Given the description of an element on the screen output the (x, y) to click on. 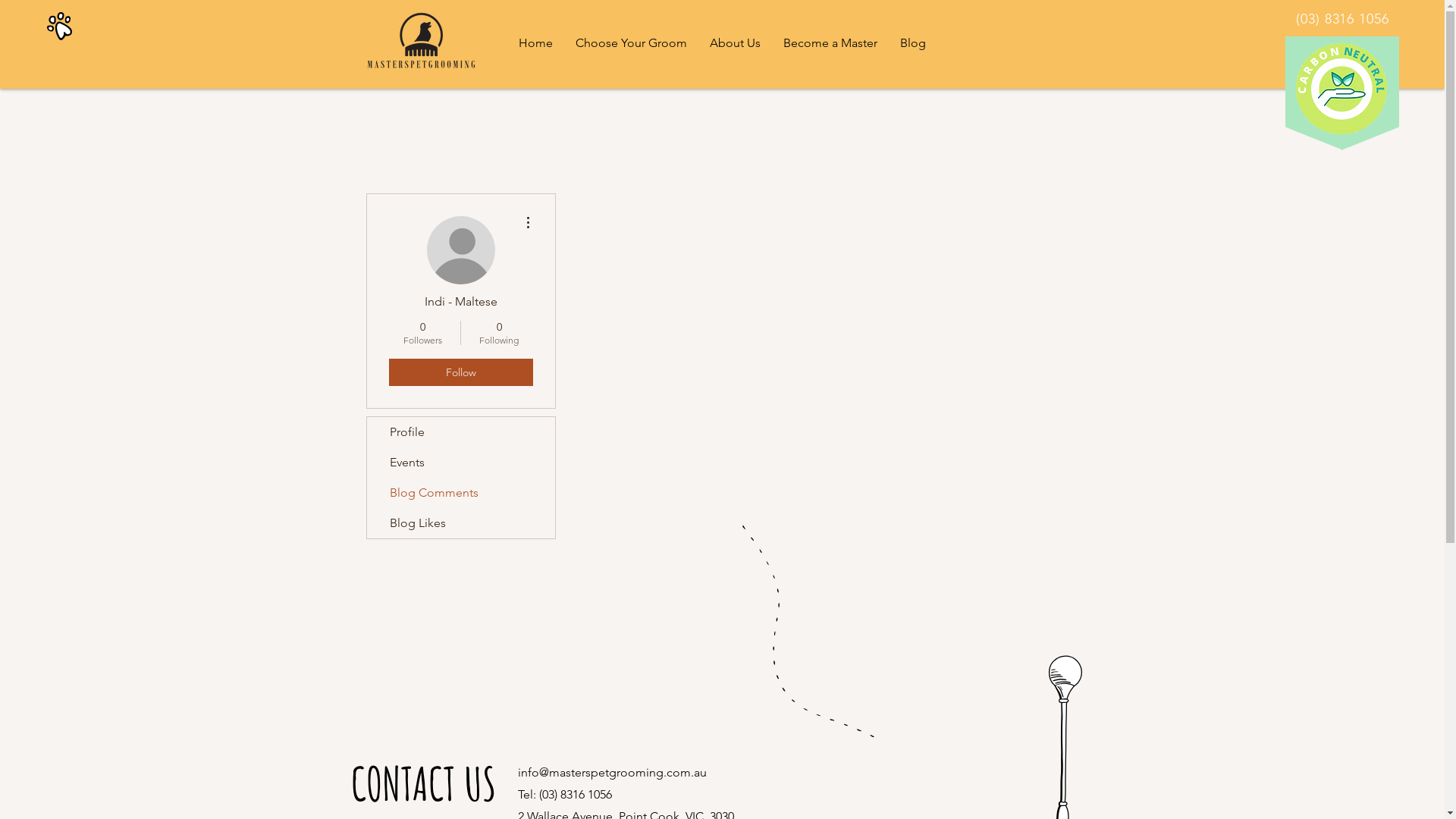
0
Followers Element type: text (421, 332)
Events Element type: text (461, 462)
info@masterspetgrooming.com.au Element type: text (611, 772)
Blog Likes Element type: text (461, 523)
Choose Your Groom Element type: text (631, 43)
Blog Element type: text (912, 43)
Profile Element type: text (461, 432)
About Us Element type: text (734, 43)
Follow Element type: text (460, 371)
Blog Comments Element type: text (461, 492)
Home Element type: text (535, 43)
0
Following Element type: text (499, 332)
Become a Master Element type: text (829, 43)
